Given the description of an element on the screen output the (x, y) to click on. 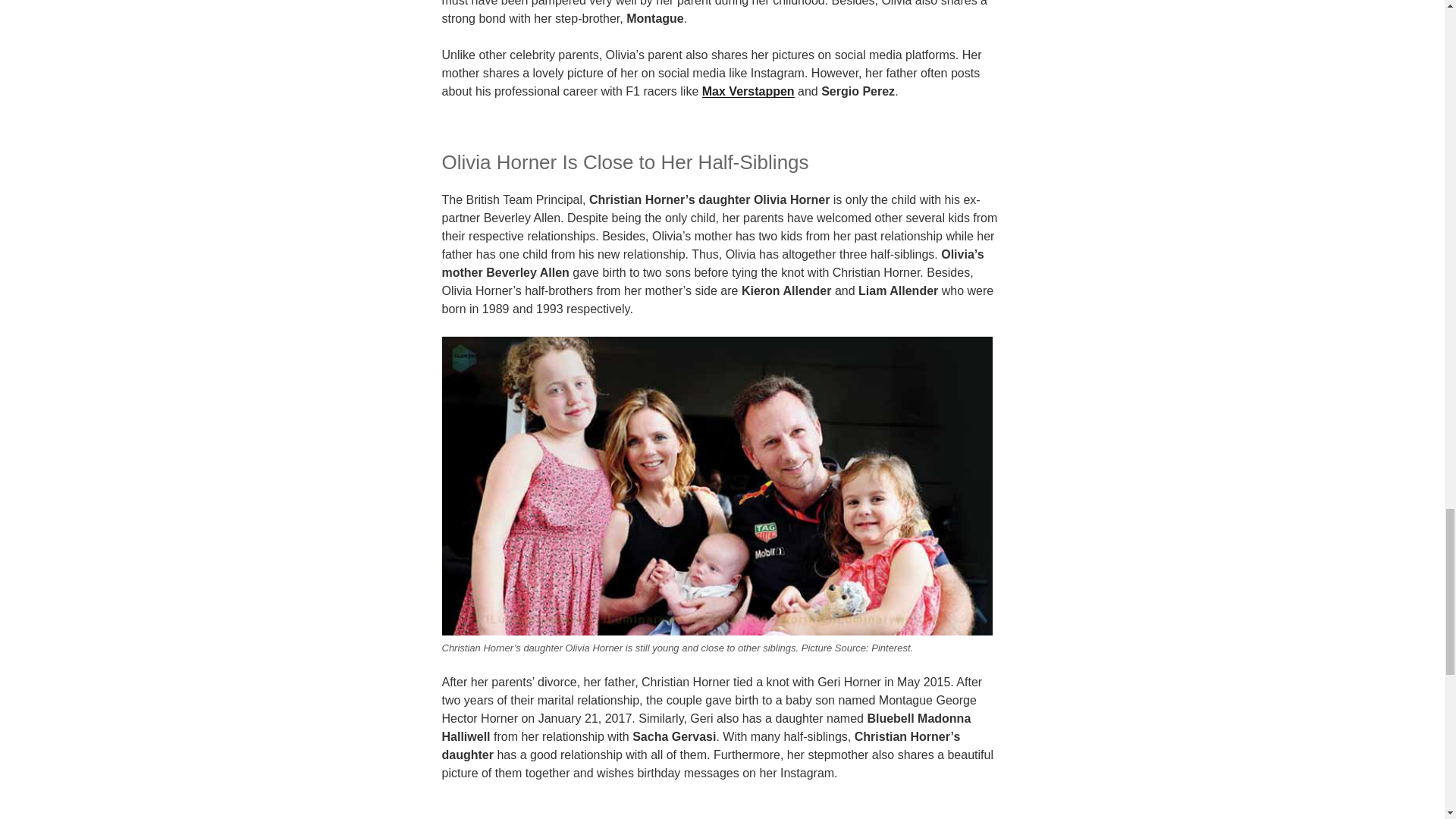
Max Verstappen (747, 91)
